Given the description of an element on the screen output the (x, y) to click on. 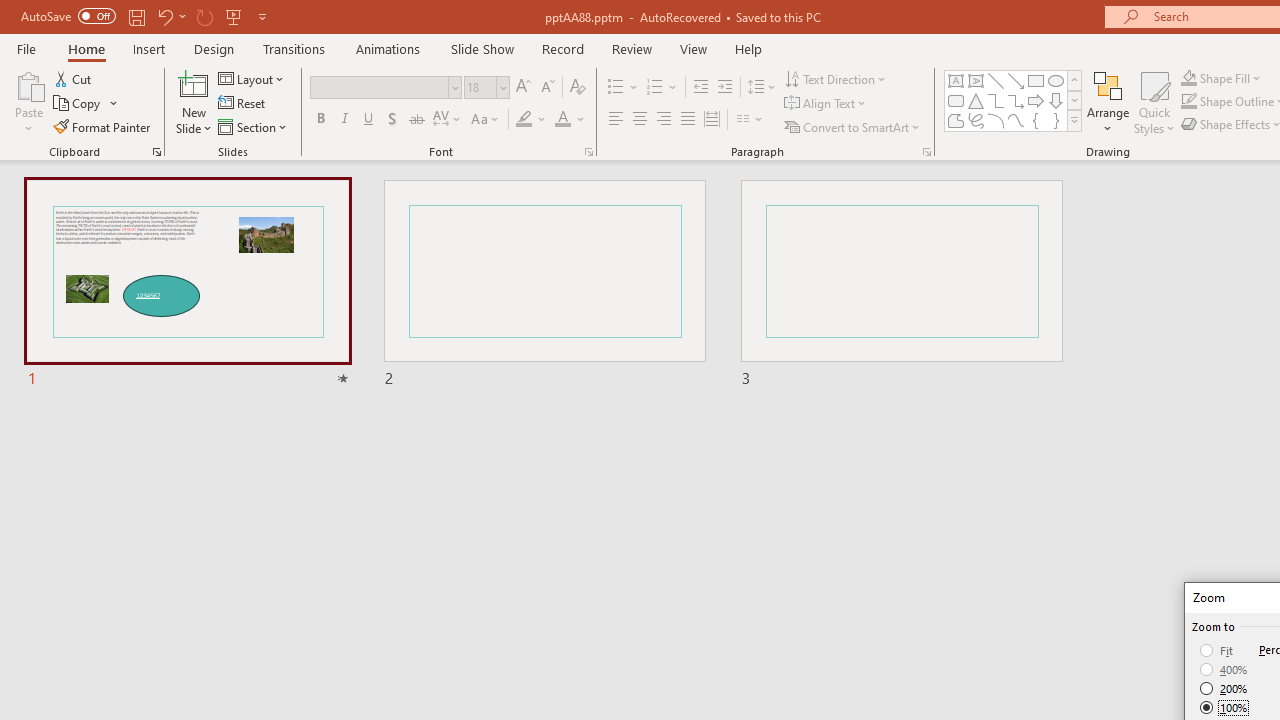
100% (1224, 707)
Shape Fill Aqua, Accent 2 (1188, 78)
400% (1224, 669)
